Given the description of an element on the screen output the (x, y) to click on. 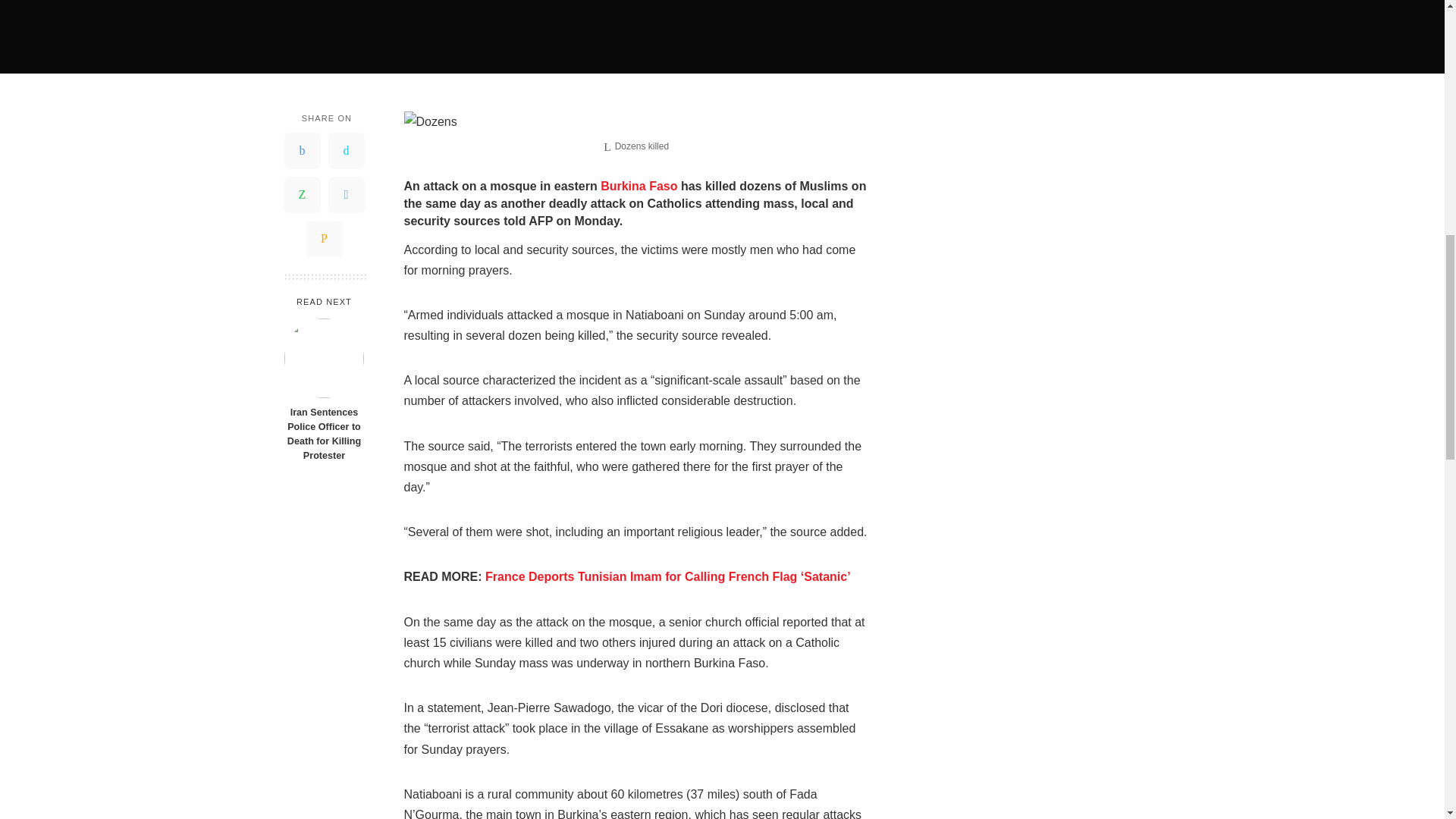
Facebook (301, 150)
WhatsApp (301, 194)
Twitter (345, 150)
